Given the description of an element on the screen output the (x, y) to click on. 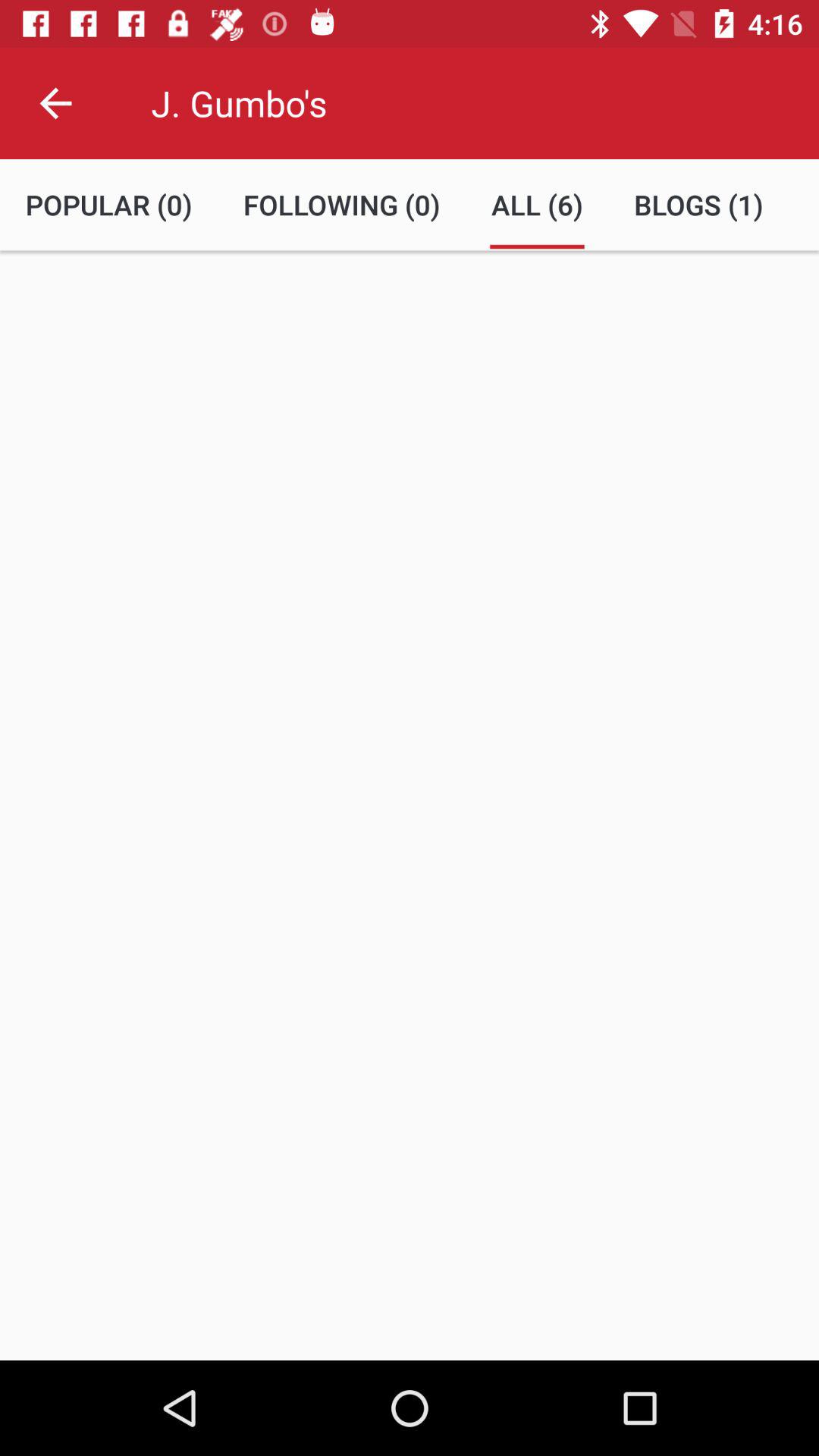
open icon above popular (0) icon (55, 103)
